Given the description of an element on the screen output the (x, y) to click on. 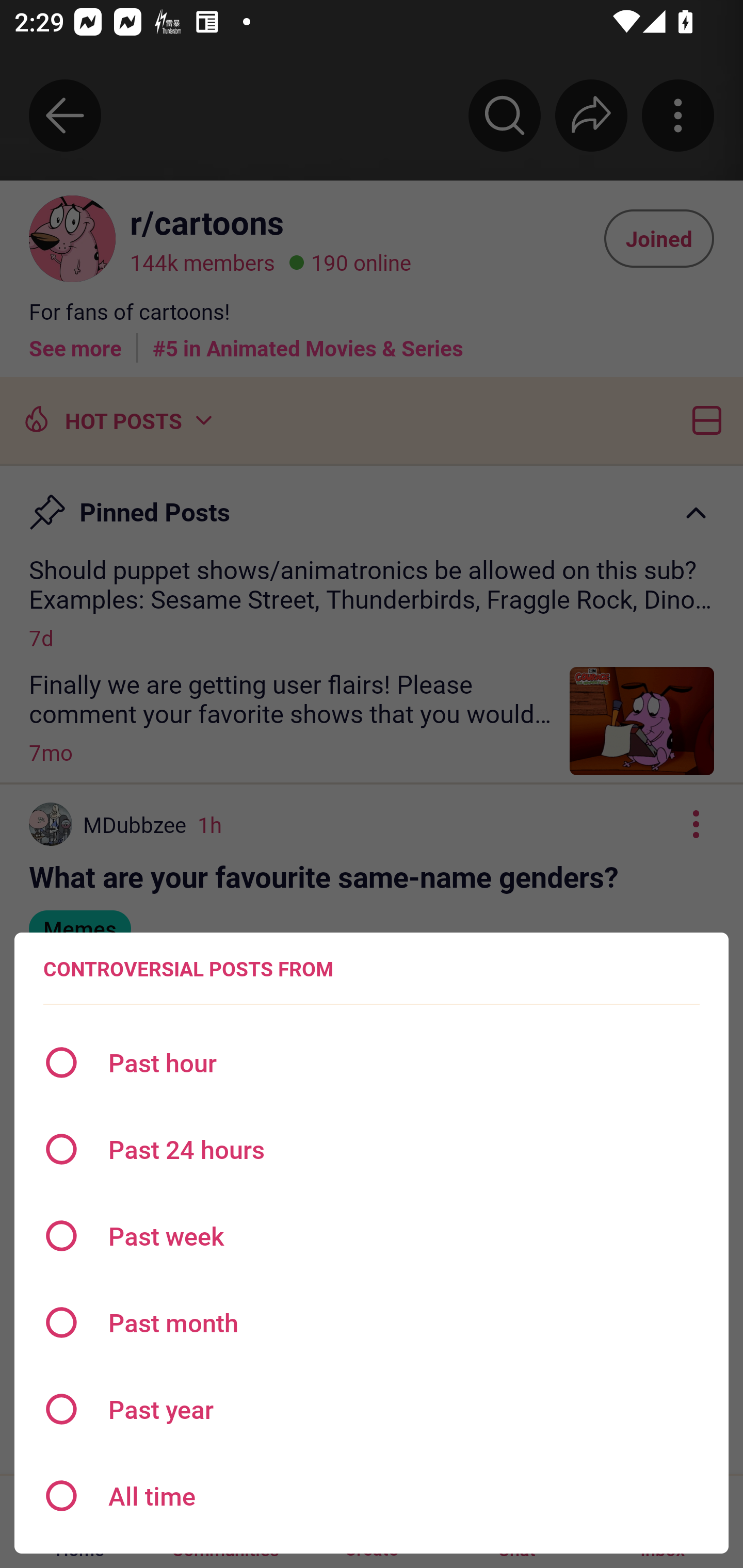
CONTROVERSIAL POSTS FROM (188, 968)
Past hour (371, 1062)
Past 24 hours (371, 1149)
Past week (371, 1236)
Past month (371, 1322)
Past year (371, 1408)
All time (371, 1495)
